Given the description of an element on the screen output the (x, y) to click on. 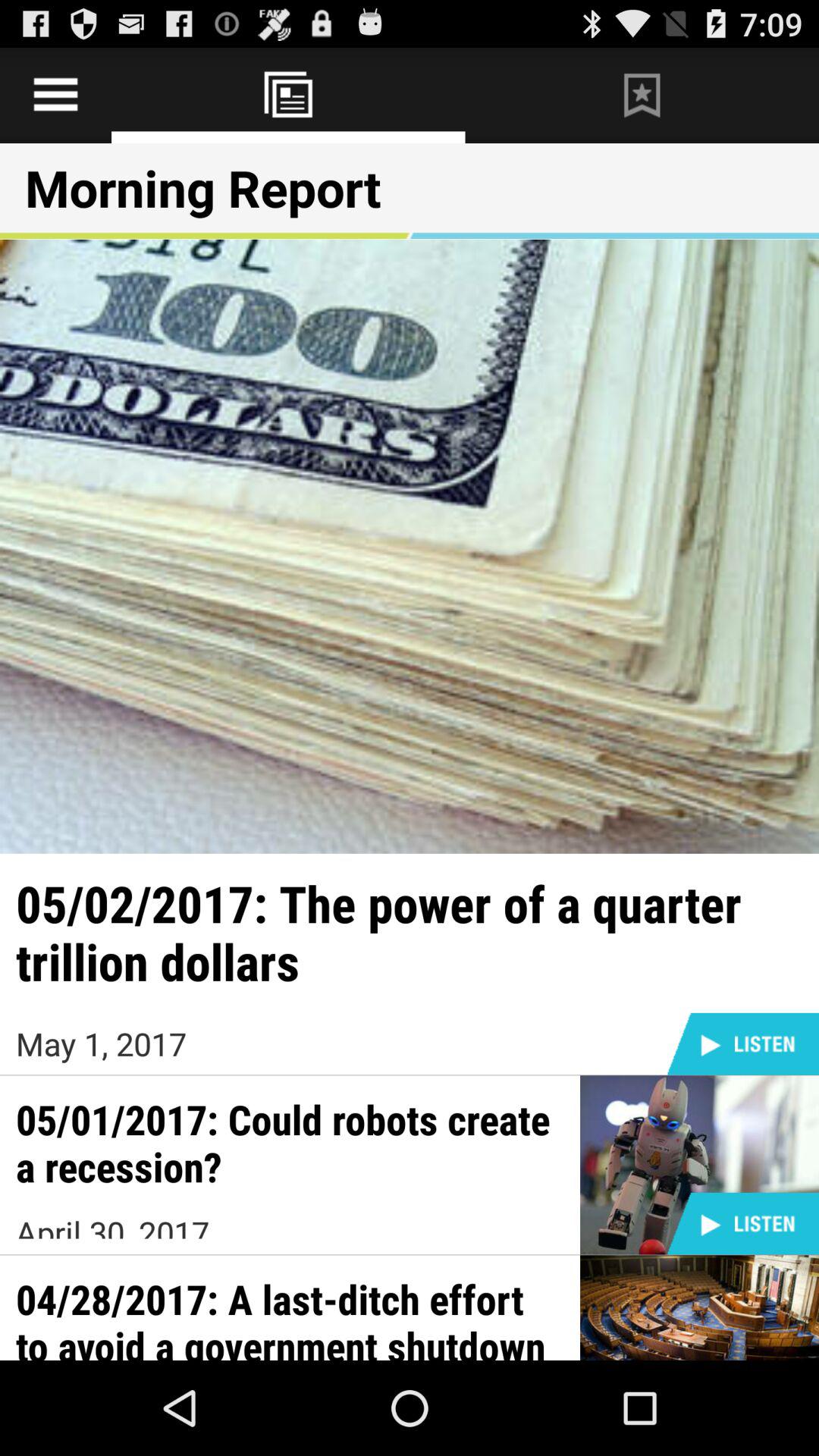
open menu (55, 95)
